Given the description of an element on the screen output the (x, y) to click on. 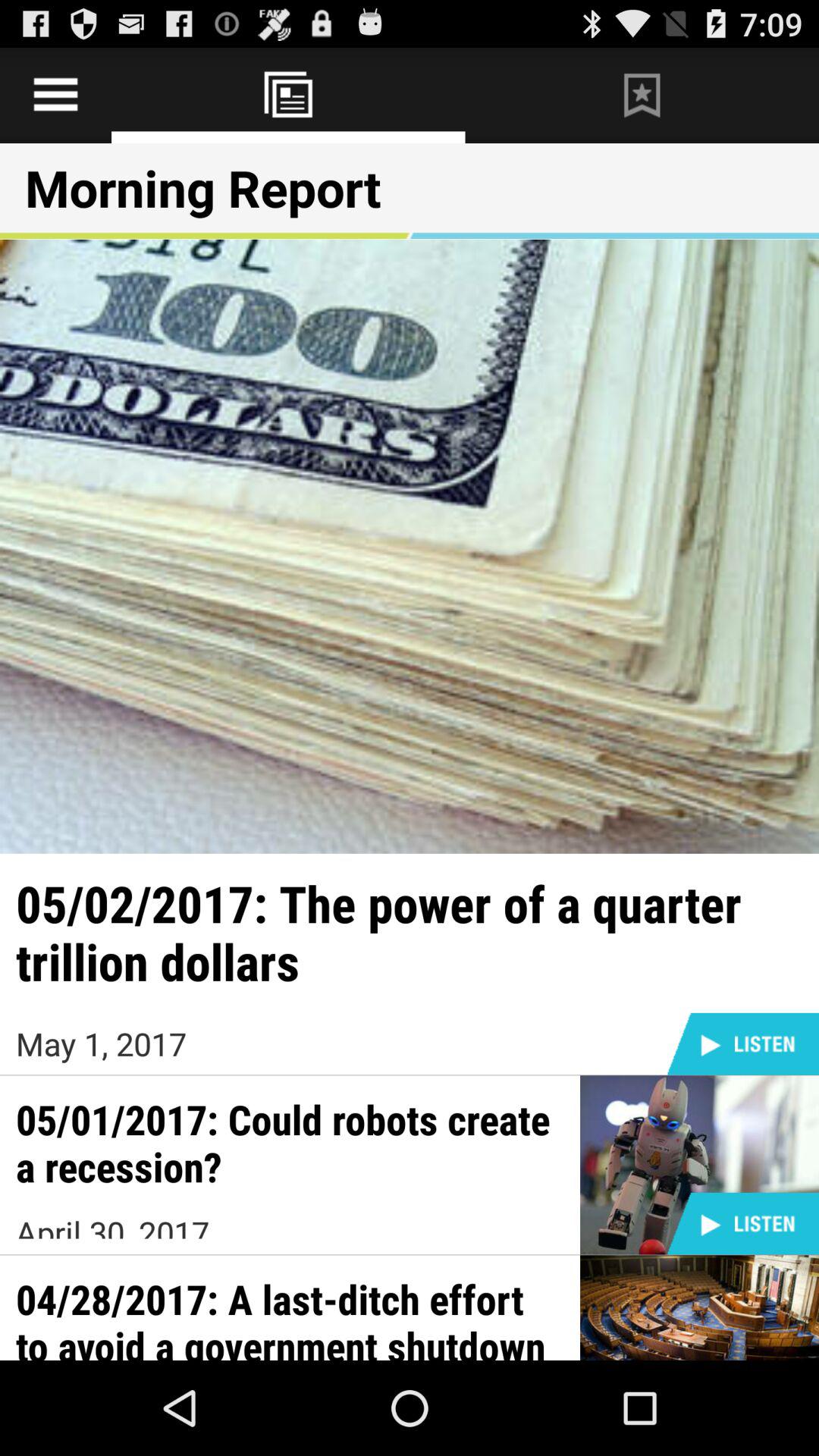
open menu (55, 95)
